Given the description of an element on the screen output the (x, y) to click on. 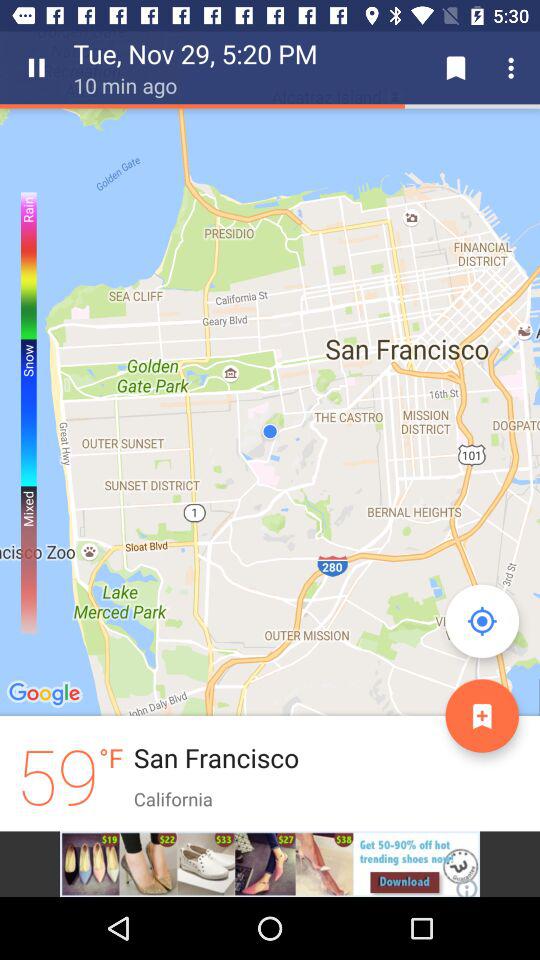
visit advertiser (270, 864)
